Given the description of an element on the screen output the (x, y) to click on. 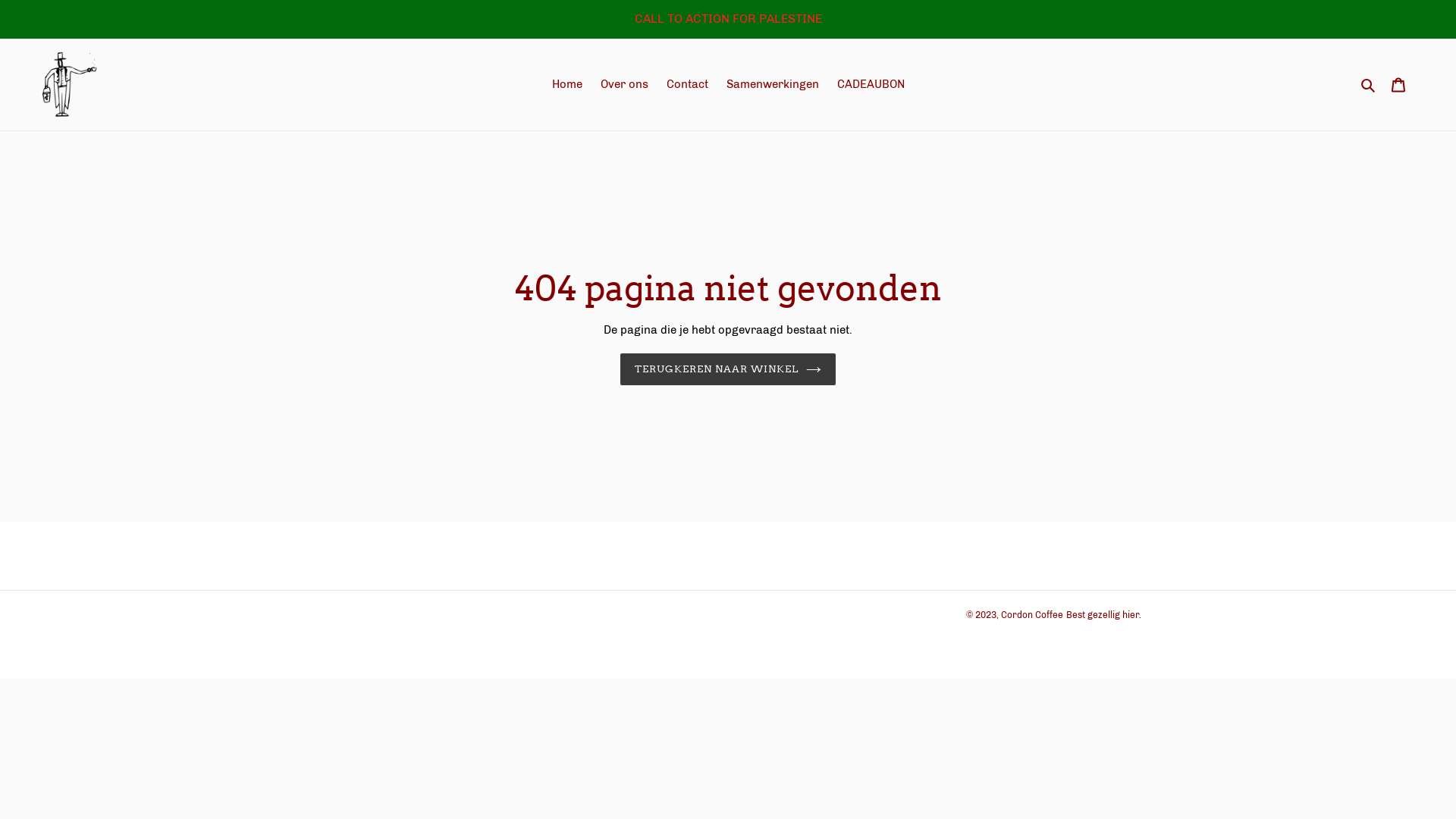
Zoeken Element type: text (1368, 84)
Home Element type: text (566, 84)
CADEAUBON Element type: text (870, 84)
Contact Element type: text (686, 84)
Over ons Element type: text (624, 84)
Samenwerkingen Element type: text (772, 84)
Cordon Coffee Element type: text (1032, 614)
Winkelwagen Element type: text (1398, 84)
TERUGKEREN NAAR WINKEL Element type: text (728, 369)
